Given the description of an element on the screen output the (x, y) to click on. 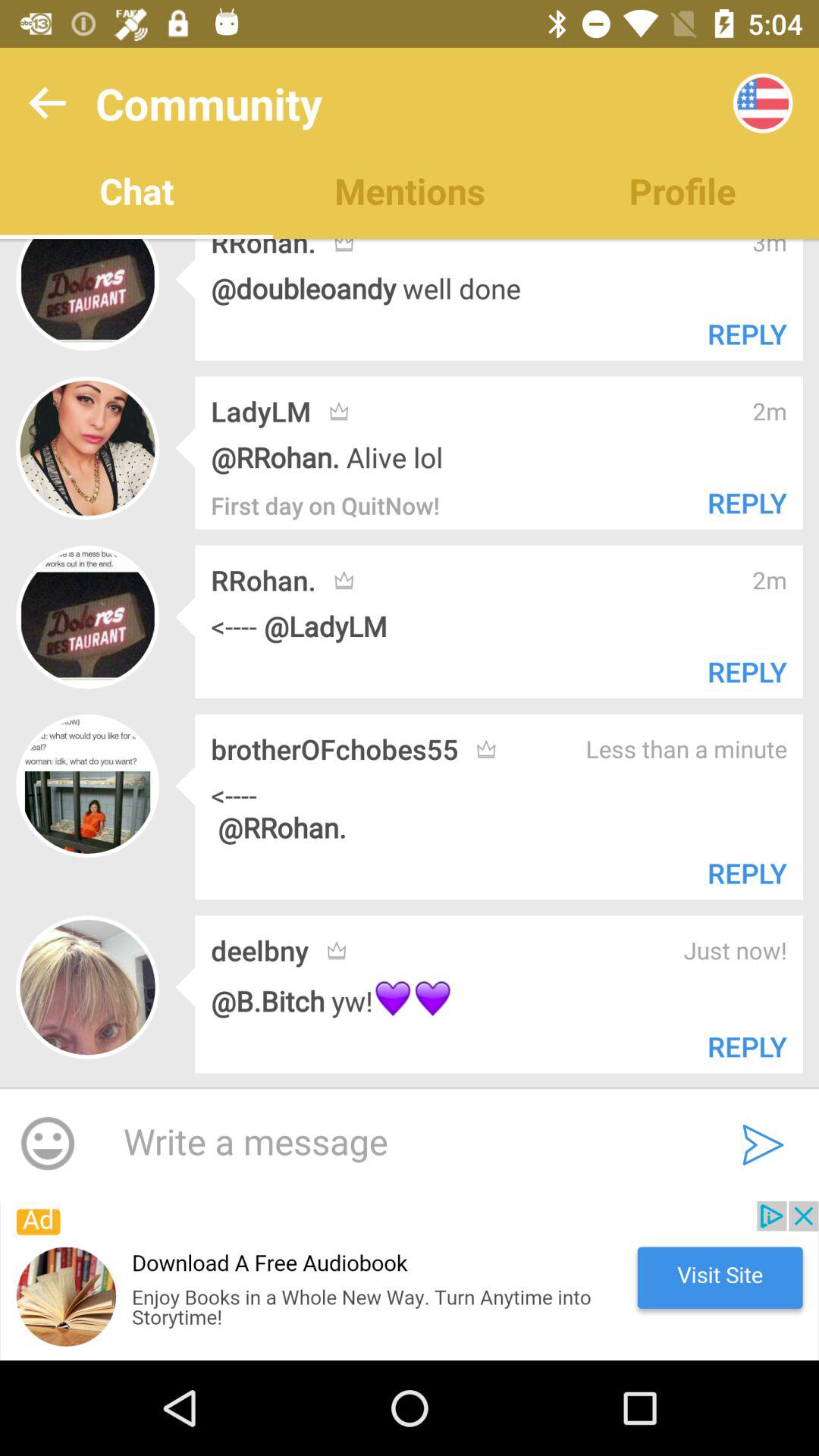
insert emoji (47, 1144)
